Given the description of an element on the screen output the (x, y) to click on. 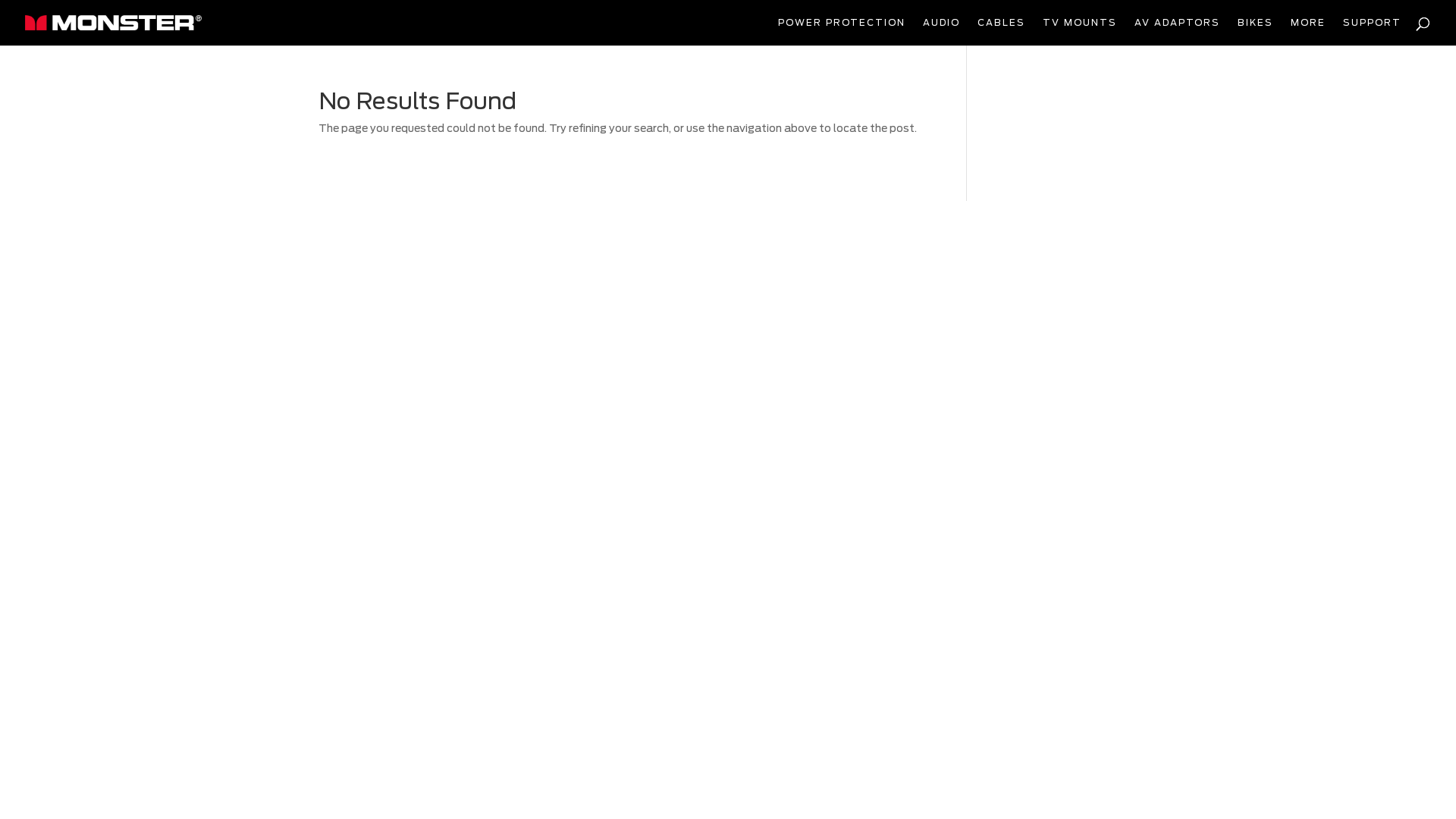
SUPPORT Element type: text (1372, 31)
MORE Element type: text (1307, 31)
AUDIO Element type: text (941, 31)
BIKES Element type: text (1255, 31)
TV MOUNTS Element type: text (1079, 31)
AV ADAPTORS Element type: text (1177, 31)
CABLES Element type: text (1001, 31)
POWER PROTECTION Element type: text (841, 31)
